Given the description of an element on the screen output the (x, y) to click on. 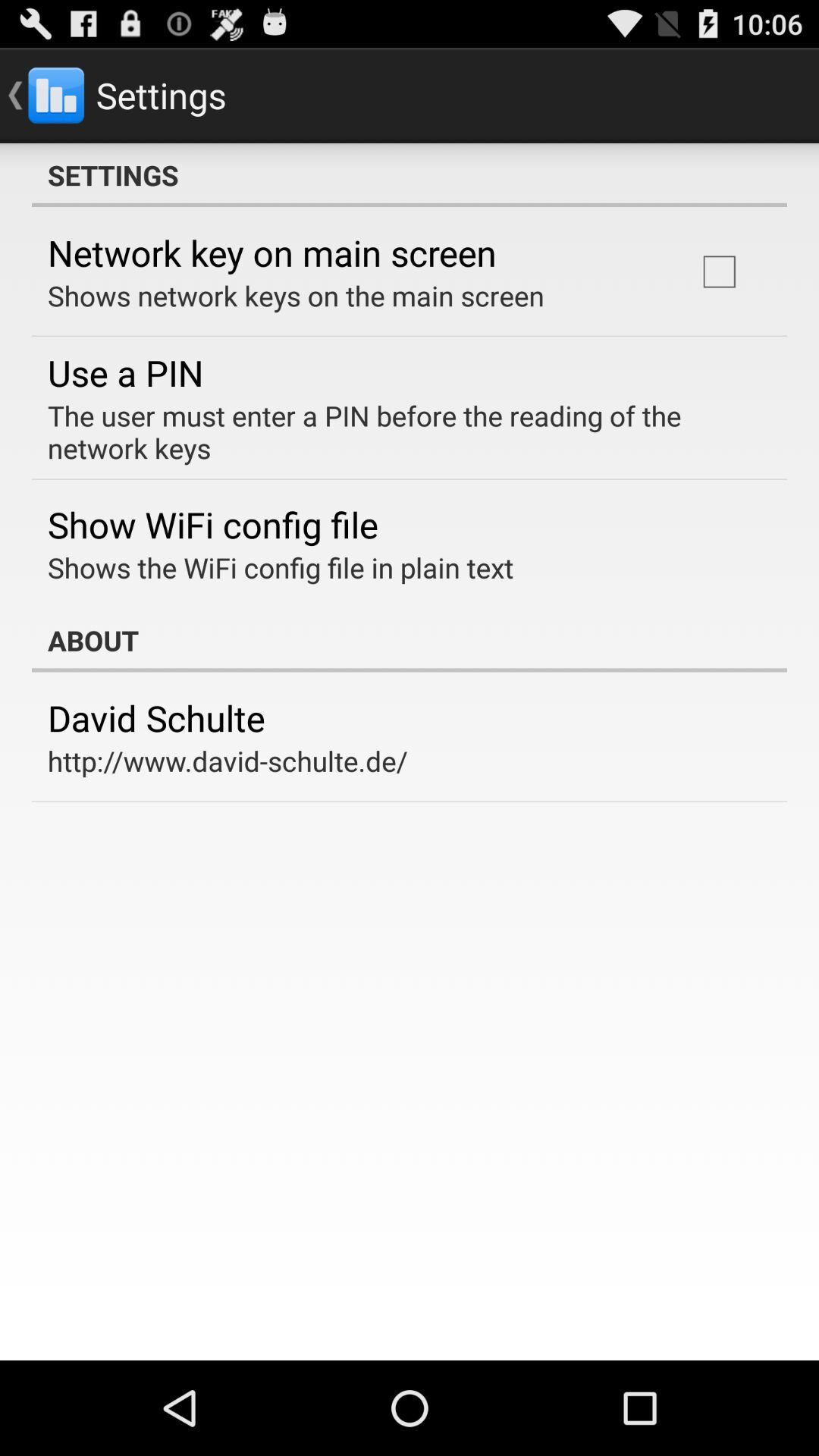
open app below david schulte app (227, 760)
